Given the description of an element on the screen output the (x, y) to click on. 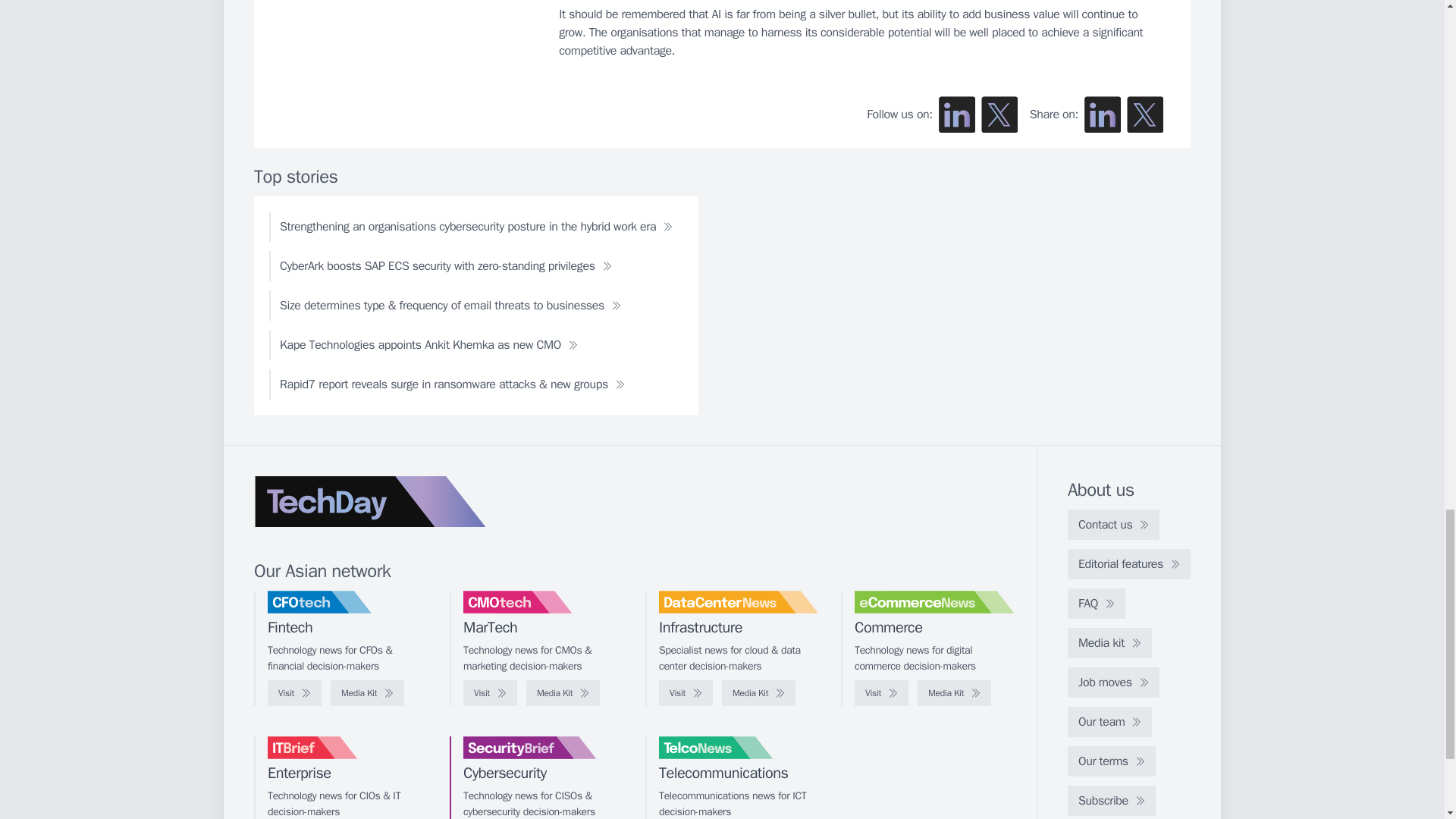
Kape Technologies appoints Ankit Khemka as new CMO (428, 345)
Visit (686, 692)
Visit (881, 692)
Media Kit (954, 692)
Visit (489, 692)
Visit (294, 692)
Media Kit (758, 692)
Media Kit (562, 692)
Media Kit (367, 692)
